Given the description of an element on the screen output the (x, y) to click on. 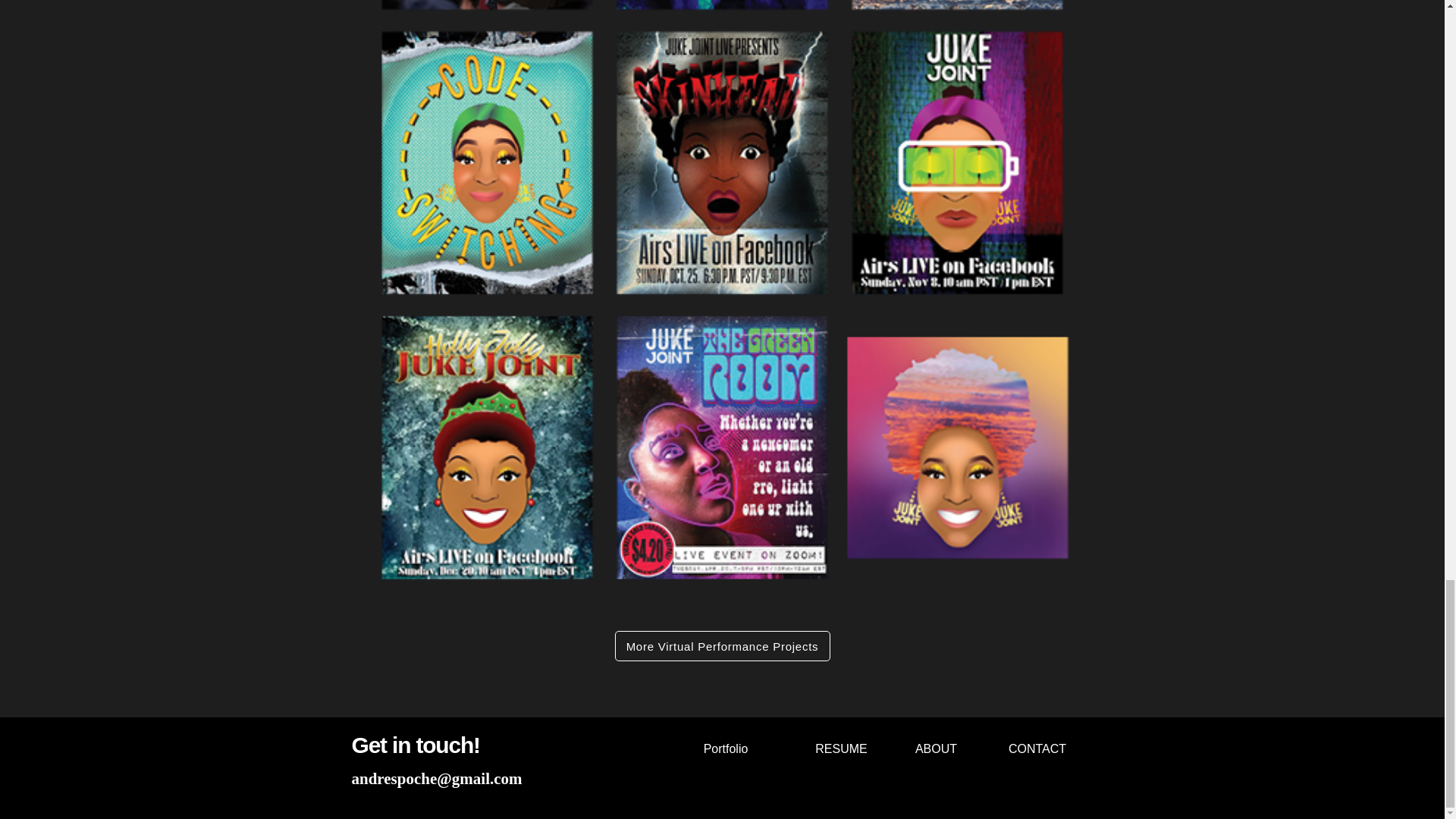
RESUME (841, 748)
CONTACT (1037, 748)
Portfolio (724, 748)
ABOUT (936, 748)
More Virtual Performance Projects (721, 645)
